Given the description of an element on the screen output the (x, y) to click on. 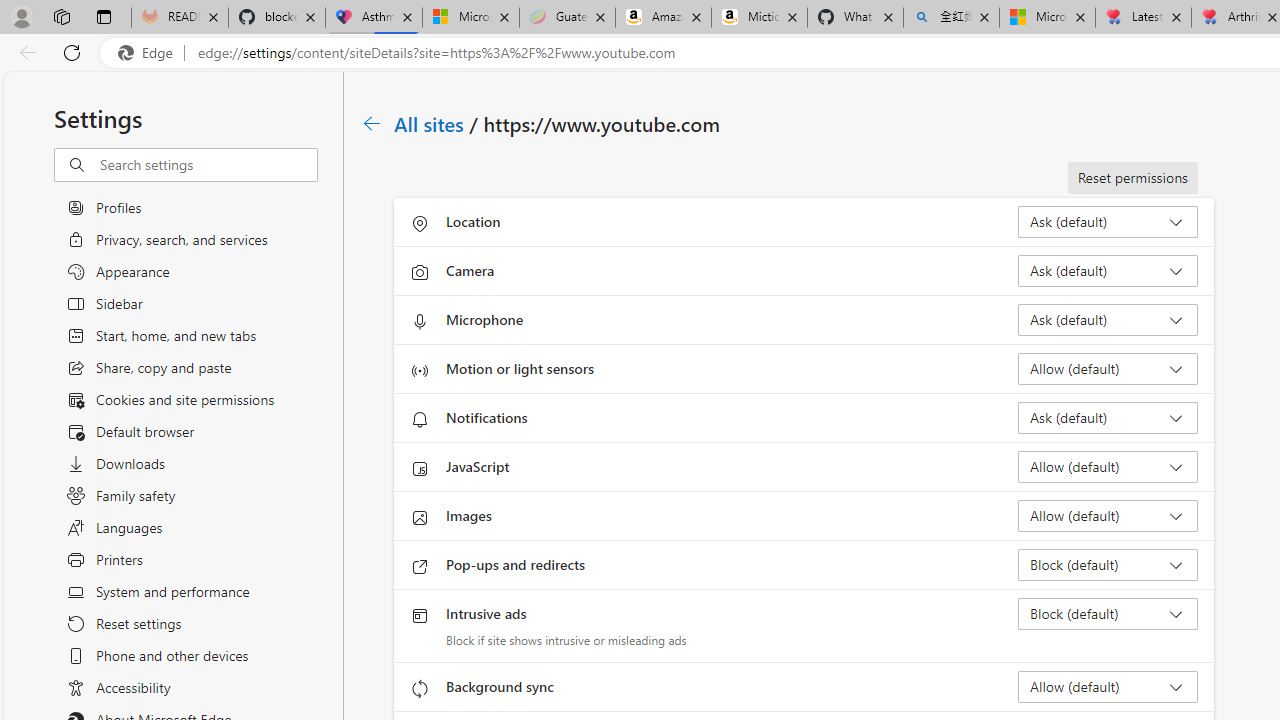
Class: c01162 (371, 123)
Edge (150, 53)
Intrusive ads Block (default) (1107, 614)
Go back to All sites page. (372, 123)
Images Allow (default) (1107, 515)
Notifications Ask (default) (1107, 417)
